Given the description of an element on the screen output the (x, y) to click on. 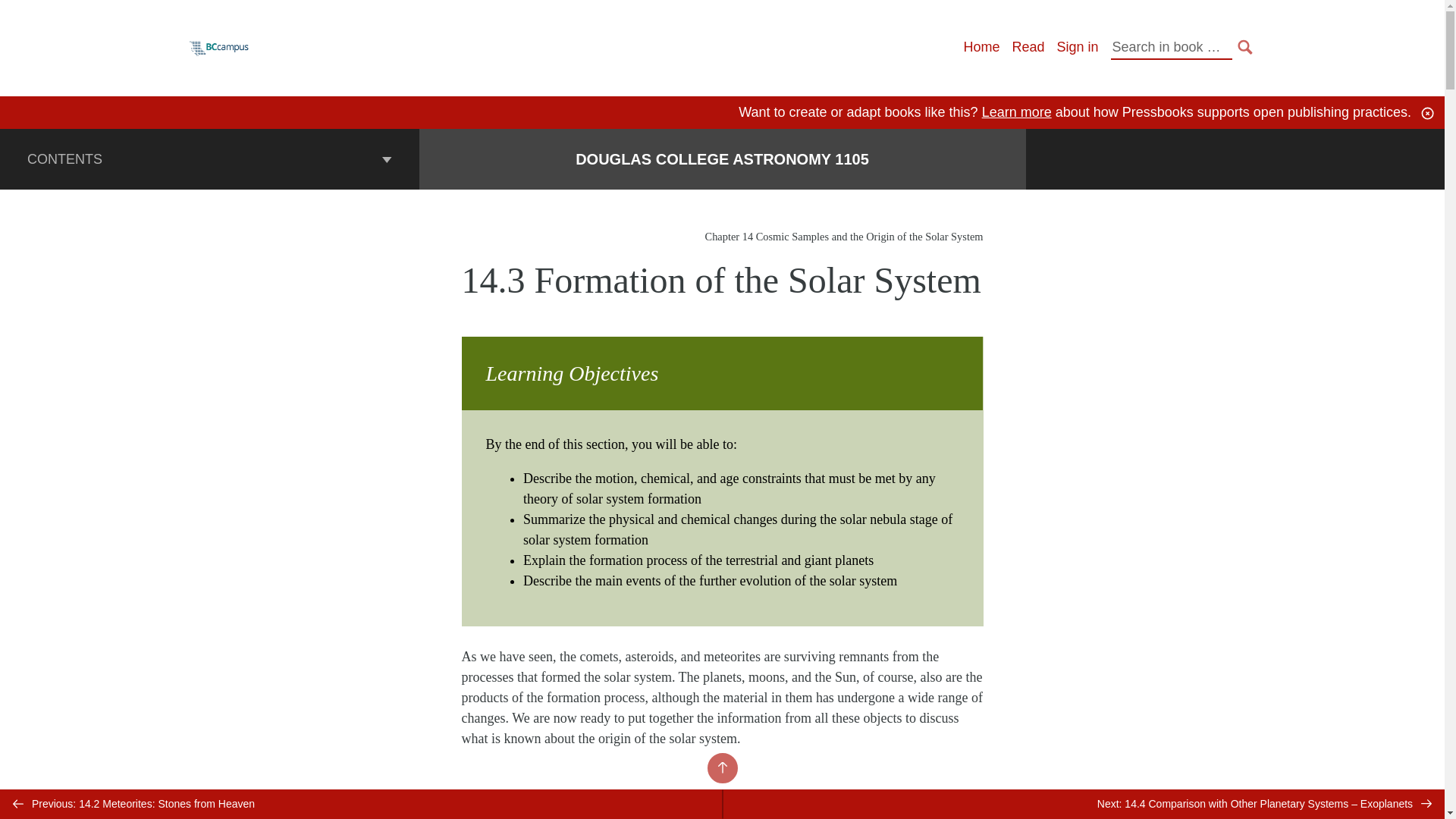
Previous: 14.2 Meteorites: Stones from Heaven (361, 804)
Previous: 14.2 Meteorites: Stones from Heaven (361, 804)
Read (1027, 46)
BACK TO TOP (721, 767)
CONTENTS (209, 158)
DOUGLAS COLLEGE ASTRONOMY 1105 (722, 159)
Sign in (1077, 46)
Home (980, 46)
Learn more (1016, 111)
